Given the description of an element on the screen output the (x, y) to click on. 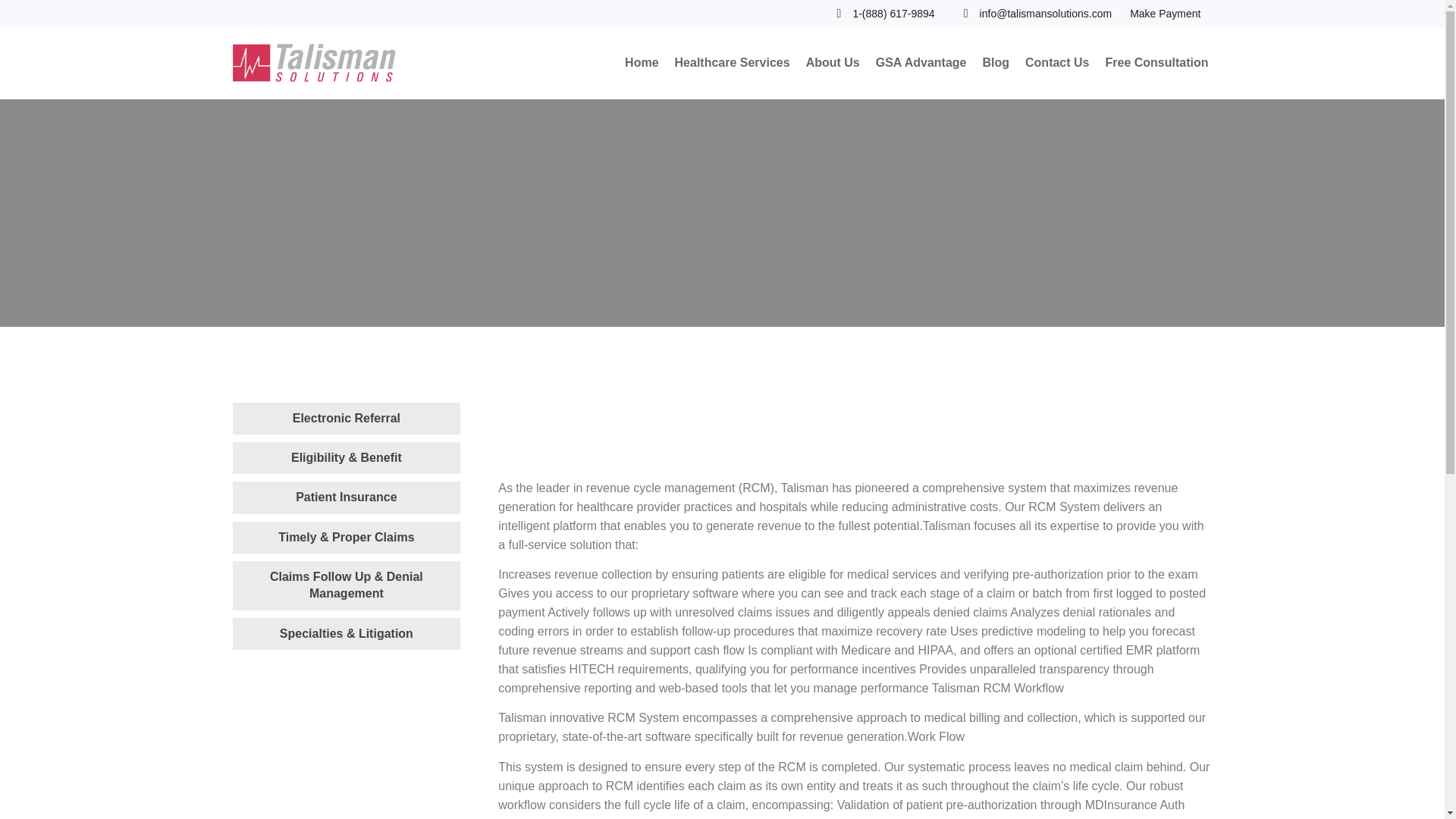
Free Consultation (1155, 63)
GSA Advantage (921, 63)
Make Payment (1164, 13)
About Us (832, 63)
Healthcare Services (732, 63)
Home (641, 63)
Patient Insurance (345, 497)
Electronic Referral (345, 418)
Contact Us (1057, 63)
